Given the description of an element on the screen output the (x, y) to click on. 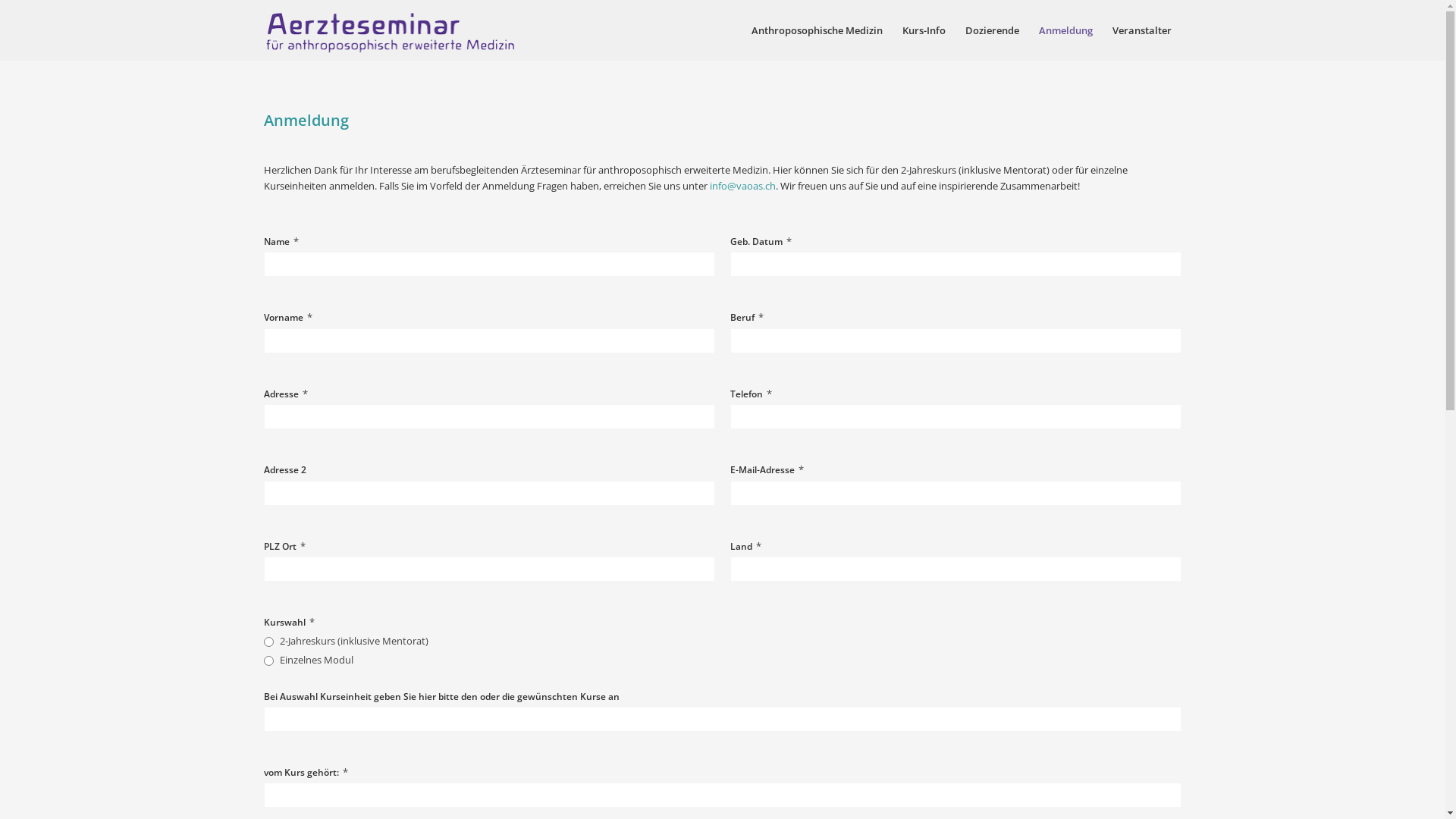
Anmeldung Element type: text (1064, 30)
Kurs-Info Element type: text (922, 30)
Dozierende Element type: text (992, 30)
Anthroposophische Medizin Element type: text (816, 30)
Veranstalter Element type: text (1141, 30)
info@vaoas.ch Element type: text (742, 185)
